Given the description of an element on the screen output the (x, y) to click on. 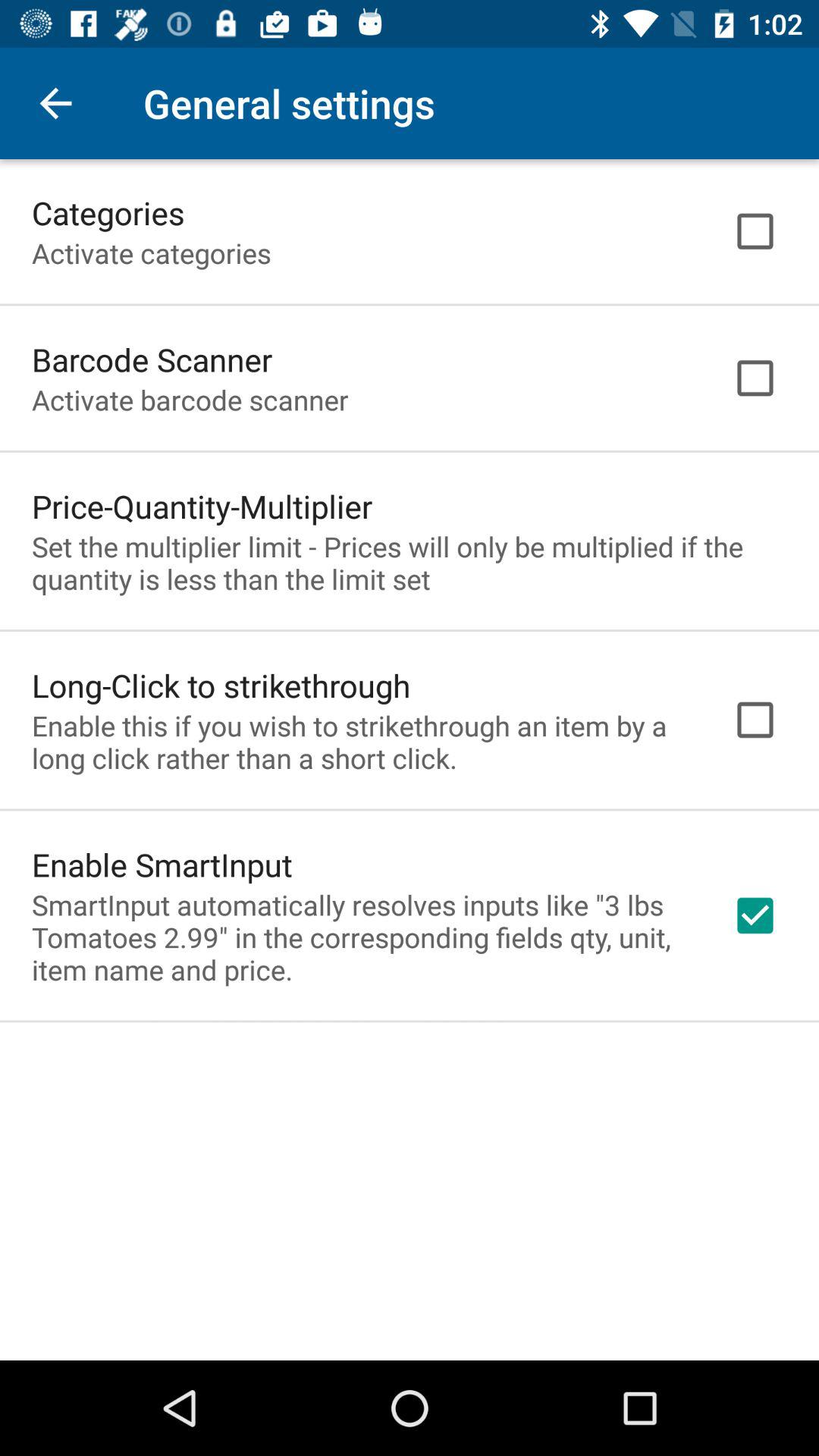
tap item next to general settings icon (55, 103)
